Given the description of an element on the screen output the (x, y) to click on. 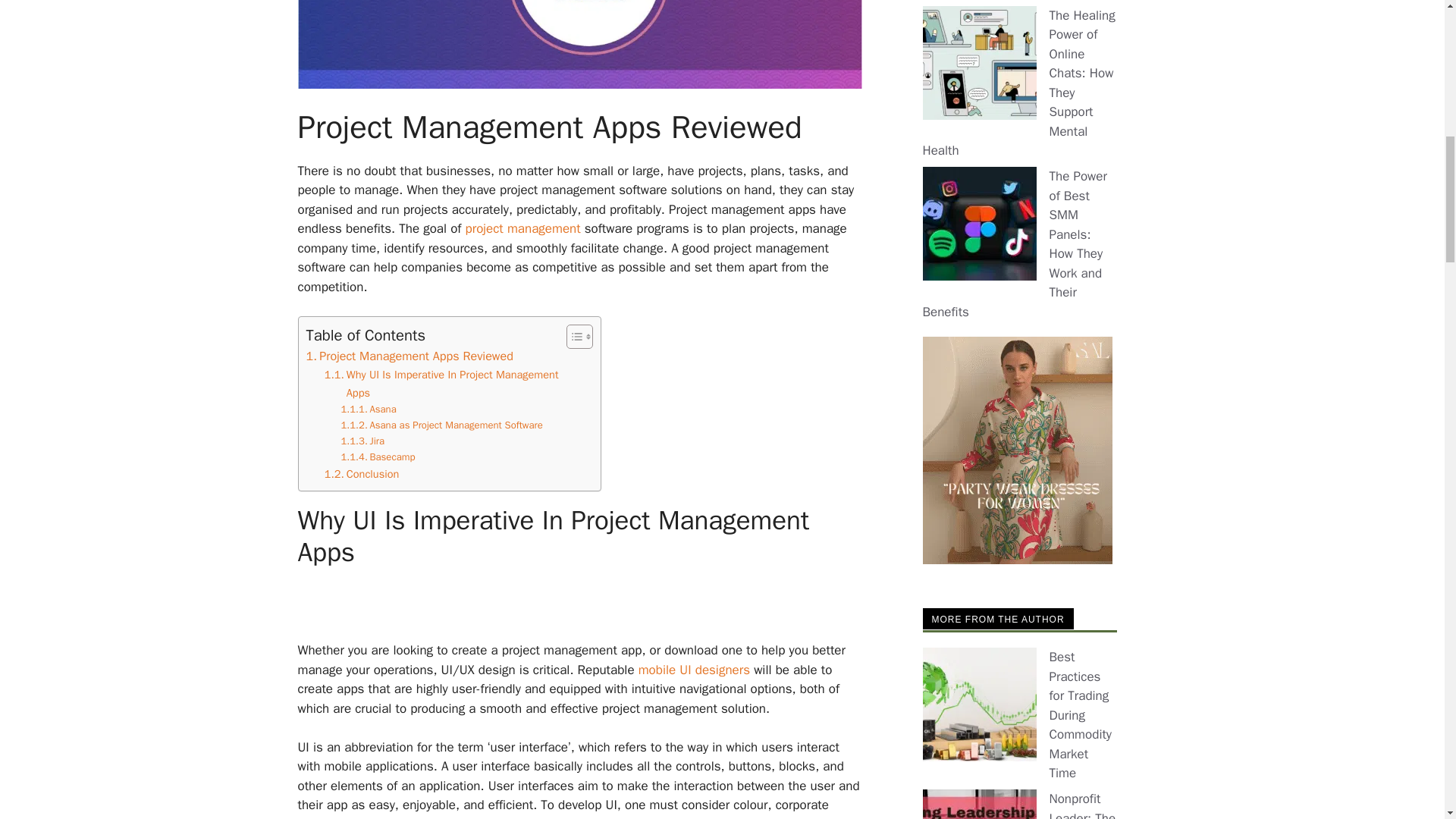
Basecamp (377, 457)
Project Management Apps Reviewed (409, 356)
Asana (368, 409)
Jira (362, 441)
Asana as Project Management Software (441, 425)
Project Management Apps Reviewed - Projectcubicle 1 (579, 78)
Why UI Is Imperative In Project Management Apps (441, 384)
Conclusion (361, 474)
